Given the description of an element on the screen output the (x, y) to click on. 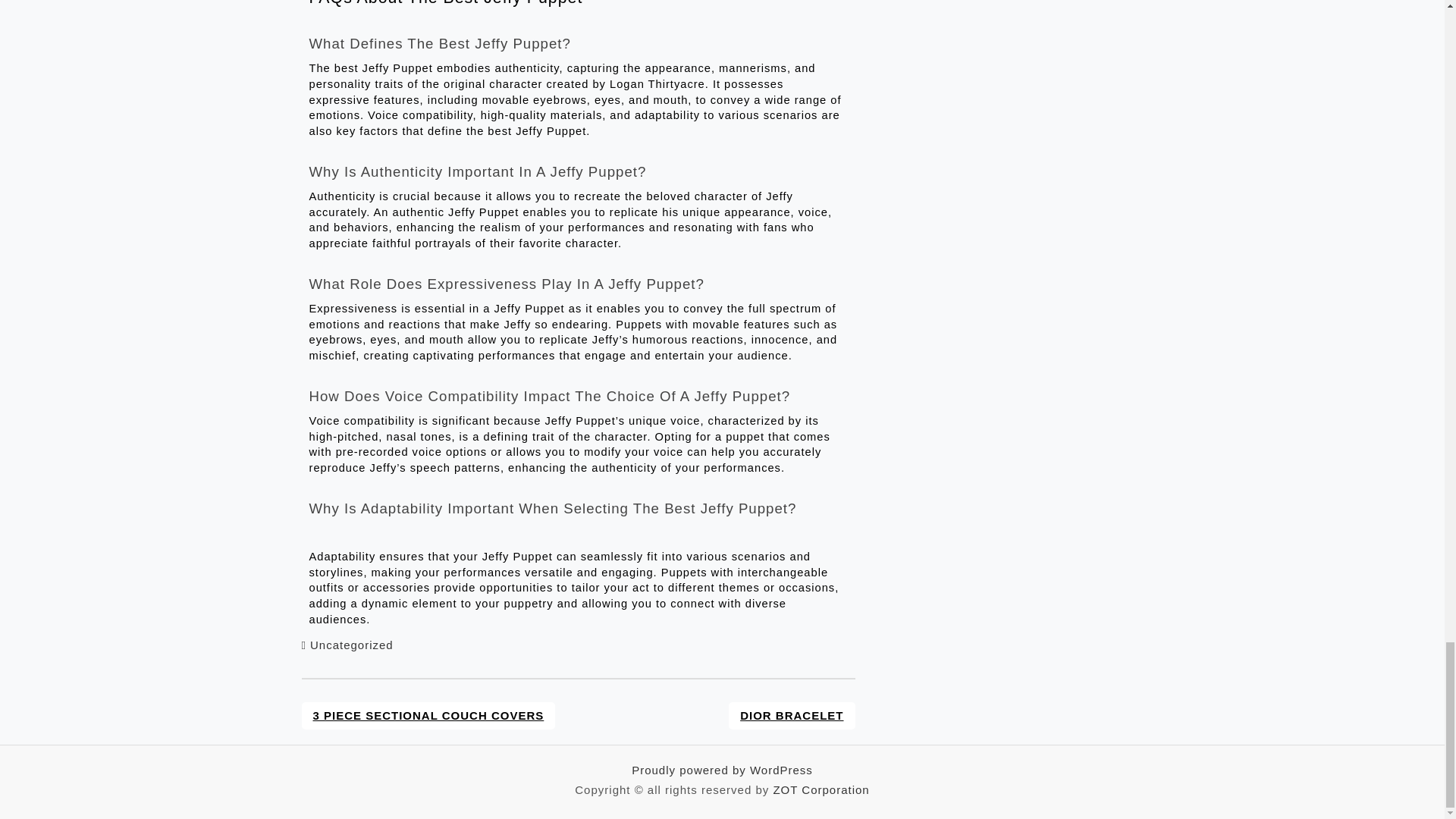
DIOR BRACELET (791, 715)
ZOT Corporation (821, 789)
Uncategorized (351, 644)
3 PIECE SECTIONAL COUCH COVERS (428, 715)
Proudly powered by WordPress (721, 769)
